Given the description of an element on the screen output the (x, y) to click on. 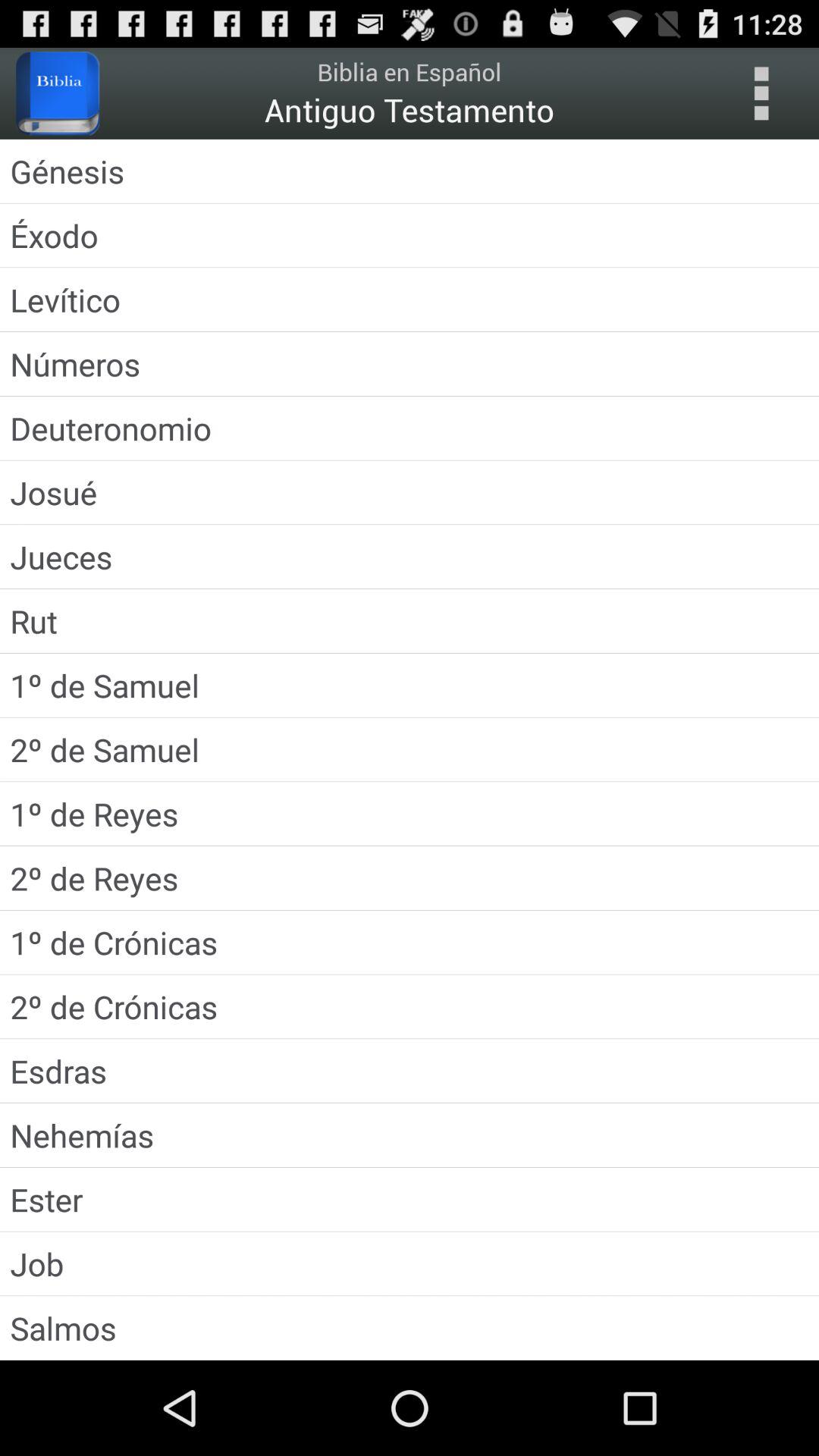
click icon above salmos app (409, 1263)
